Given the description of an element on the screen output the (x, y) to click on. 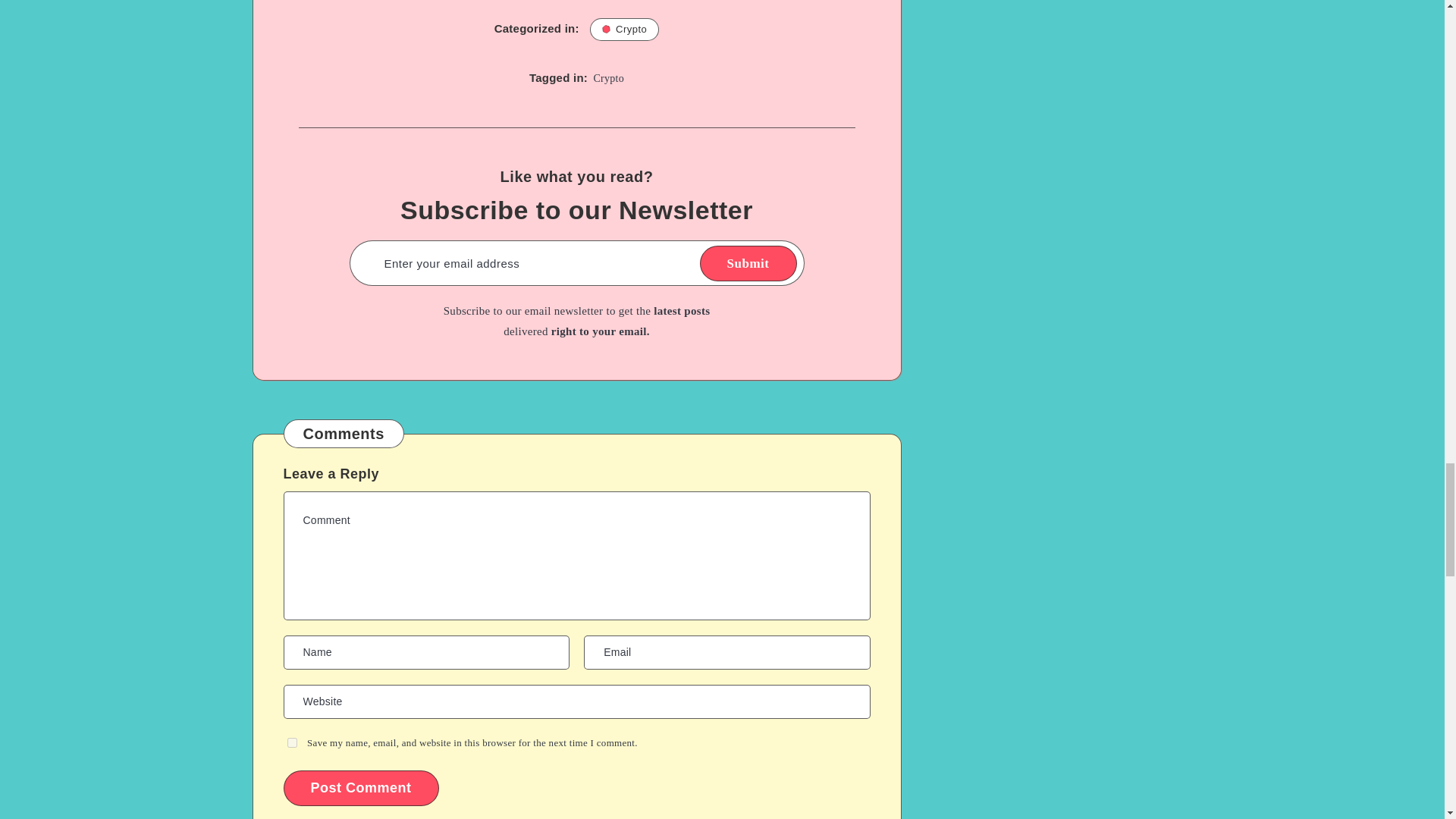
yes (291, 742)
Post Comment (361, 787)
Crypto (608, 78)
Crypto (624, 29)
Submit (748, 263)
Post Comment (361, 787)
